Given the description of an element on the screen output the (x, y) to click on. 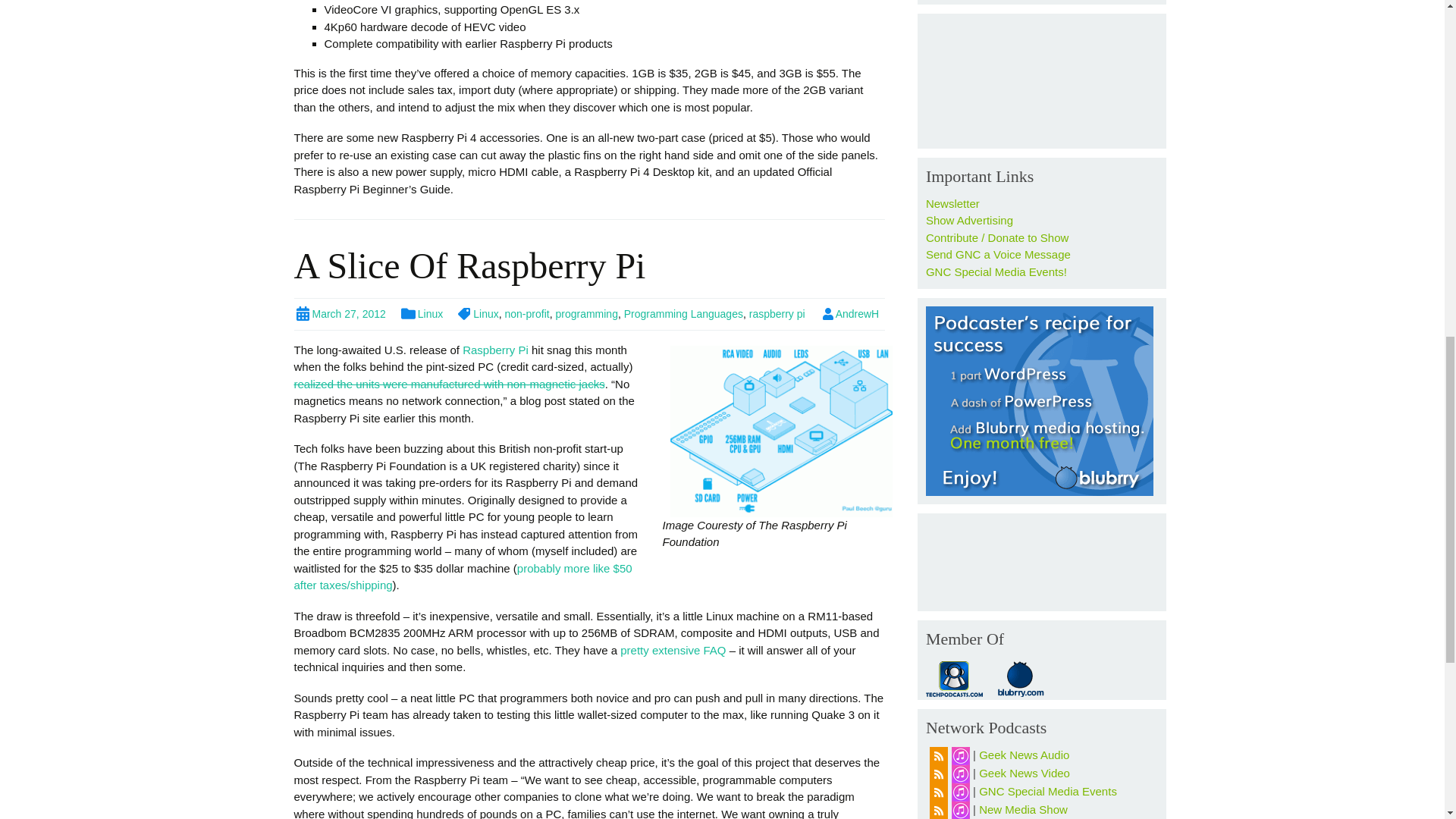
A Slice Of Raspberry Pi (470, 265)
Linux (421, 313)
View all posts by AndrewH (850, 313)
pretty extensive FAQ (672, 649)
AndrewH (850, 313)
raspberry pi (777, 313)
realized the units were manufactured with non-magnetic jacks (449, 383)
March 27, 2012 (339, 313)
programming (585, 313)
Raspberry Pi (495, 349)
